Given the description of an element on the screen output the (x, y) to click on. 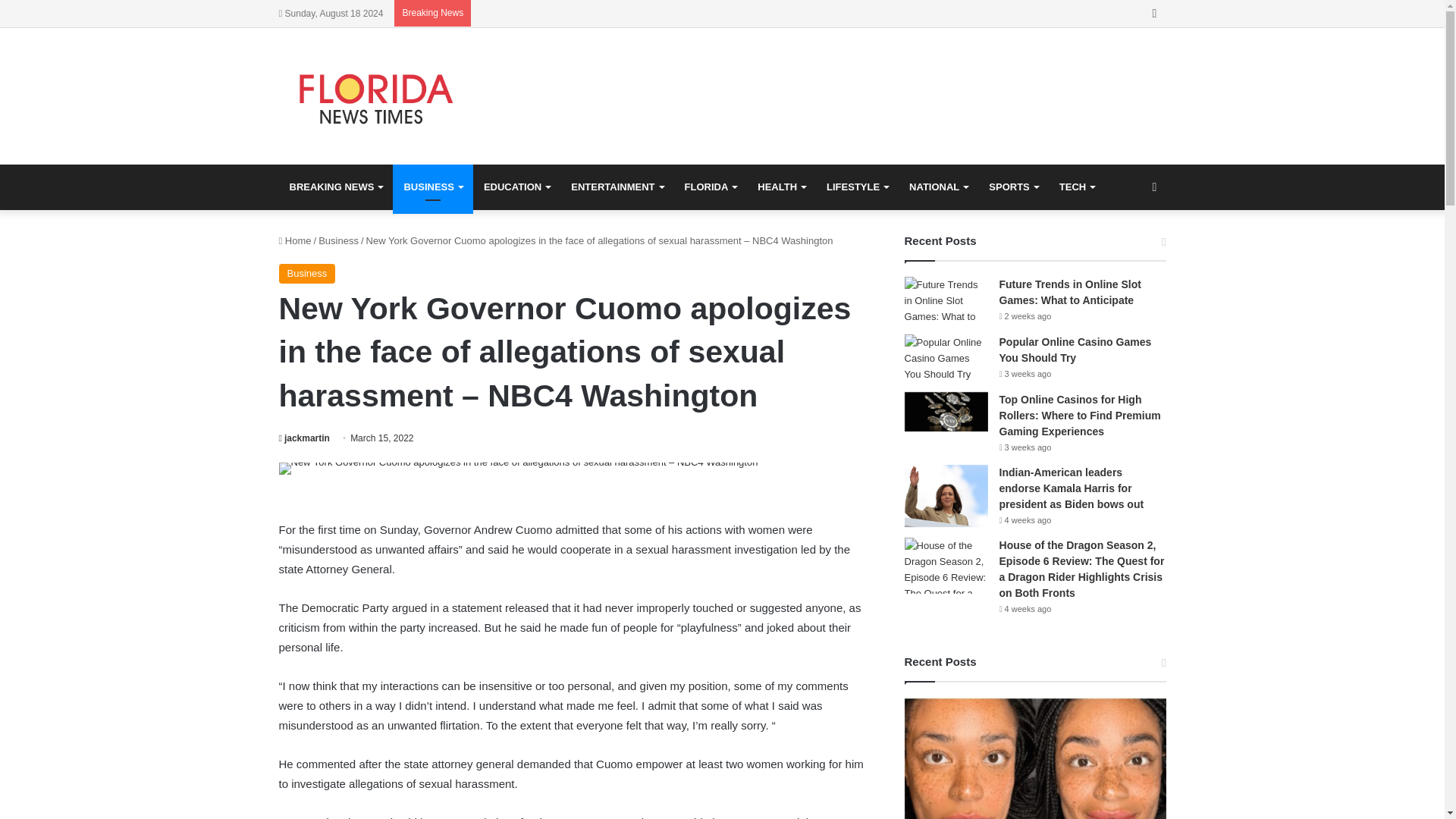
NATIONAL (938, 186)
FLORIDA (709, 186)
TECH (1076, 186)
BUSINESS (432, 186)
SPORTS (1013, 186)
Home (295, 240)
jackmartin (304, 438)
Floridanewstimes.com (377, 96)
ENTERTAINMENT (616, 186)
jackmartin (304, 438)
